Given the description of an element on the screen output the (x, y) to click on. 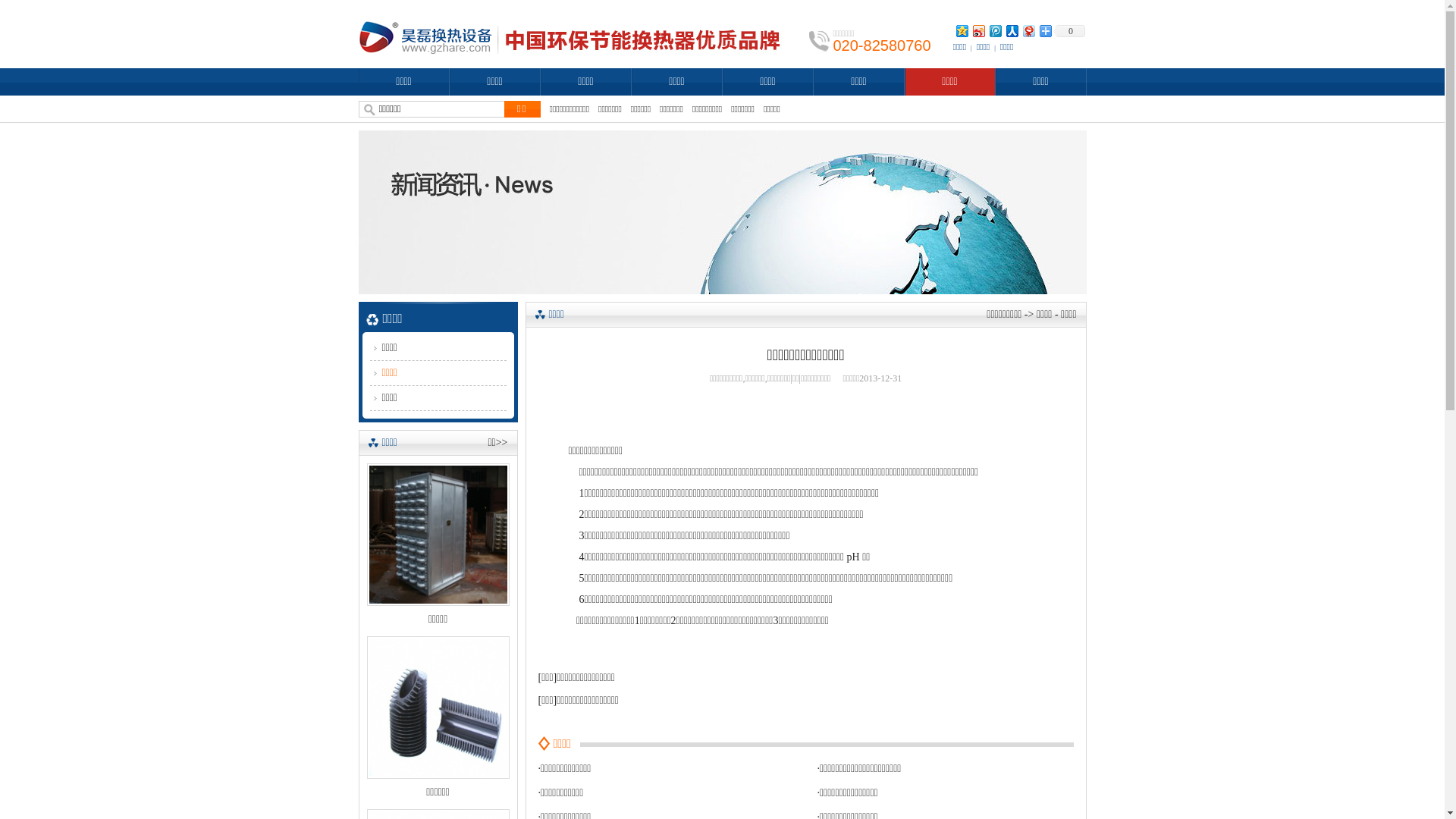
0 Element type: text (1068, 31)
